Given the description of an element on the screen output the (x, y) to click on. 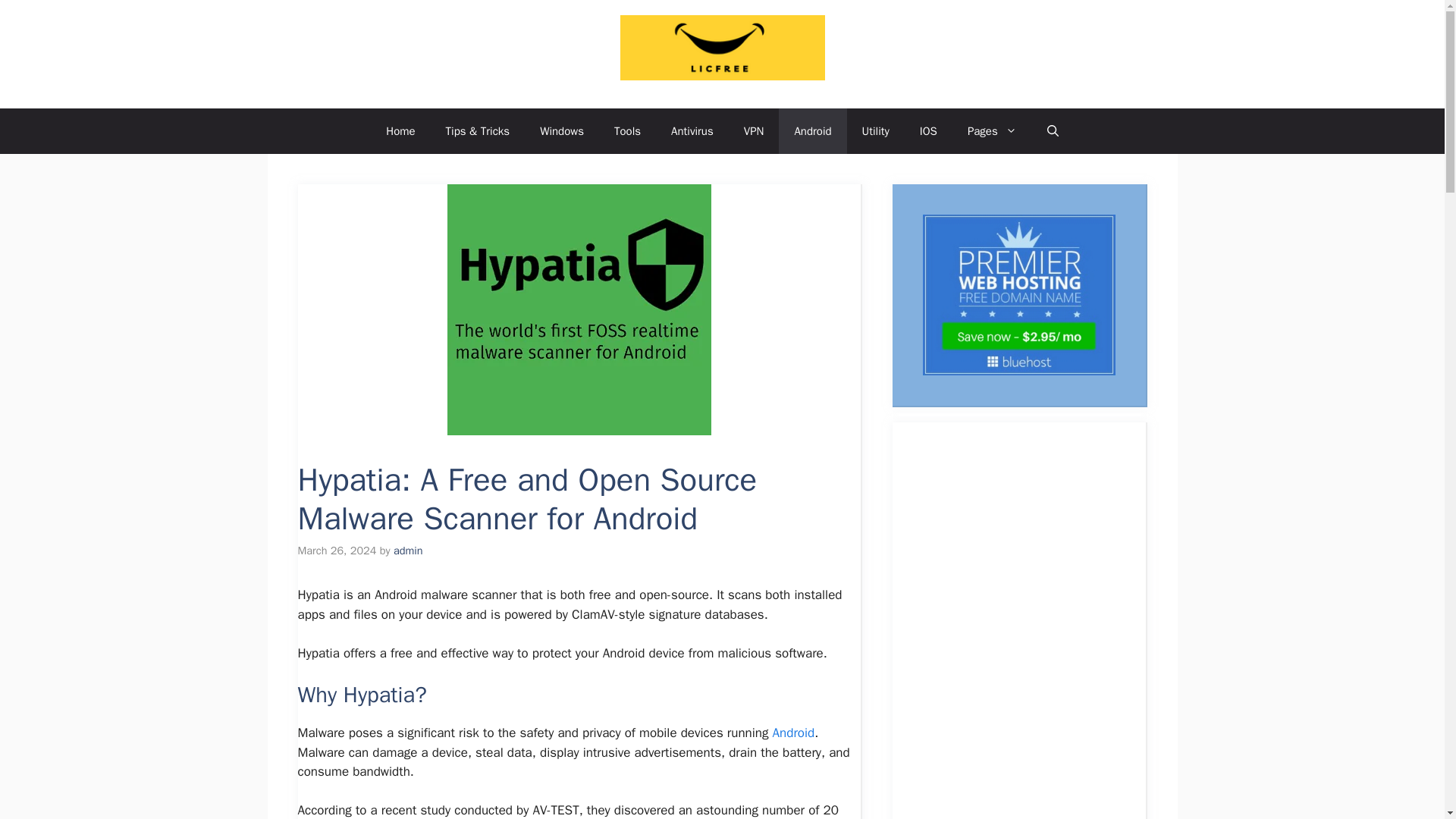
admin (408, 550)
Android (811, 130)
Home (400, 130)
Antivirus (692, 130)
Utility (875, 130)
VPN (753, 130)
View all posts by admin (408, 550)
Android (794, 732)
IOS (928, 130)
Tools (627, 130)
